Given the description of an element on the screen output the (x, y) to click on. 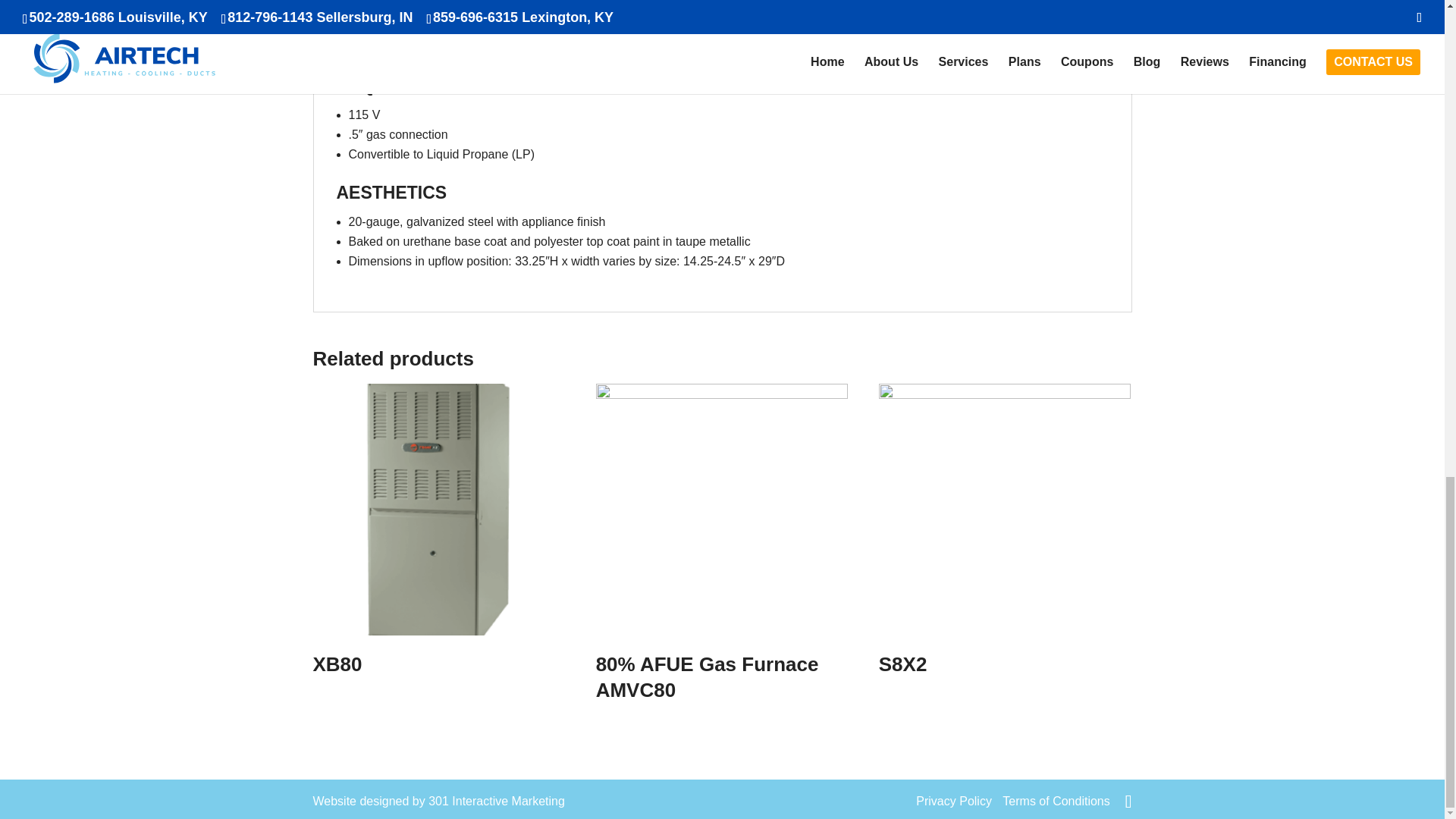
301 Interactive Marketing (496, 800)
Privacy Policy (953, 800)
Terms of Conditions (1056, 800)
